Given the description of an element on the screen output the (x, y) to click on. 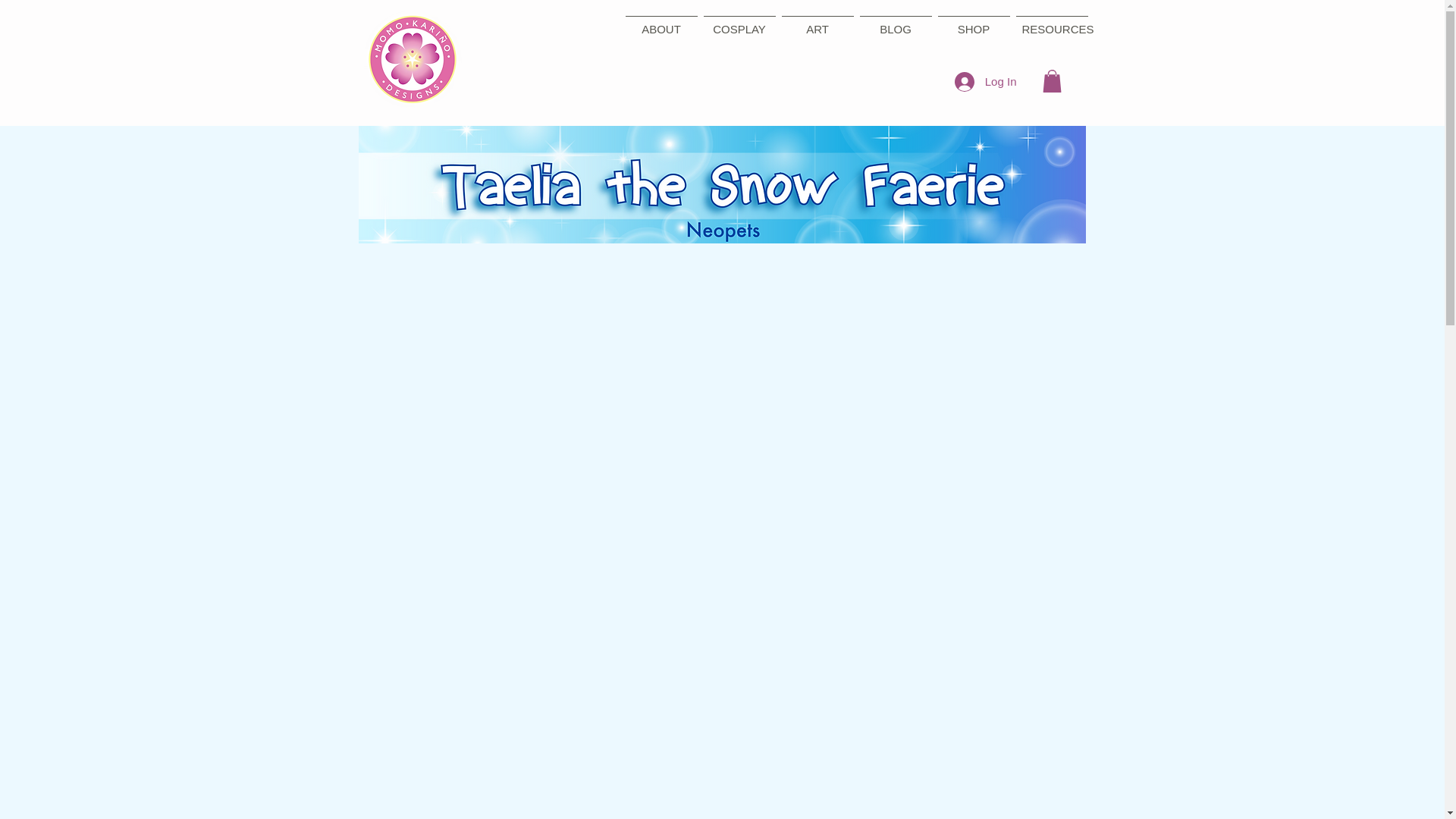
COSPLAY (739, 22)
RESOURCES (1051, 22)
ABOUT (660, 22)
Taelia the Snow Faerie - Neopets (721, 184)
Log In (985, 80)
ART (816, 22)
SHOP (972, 22)
BLOG (895, 22)
